Given the description of an element on the screen output the (x, y) to click on. 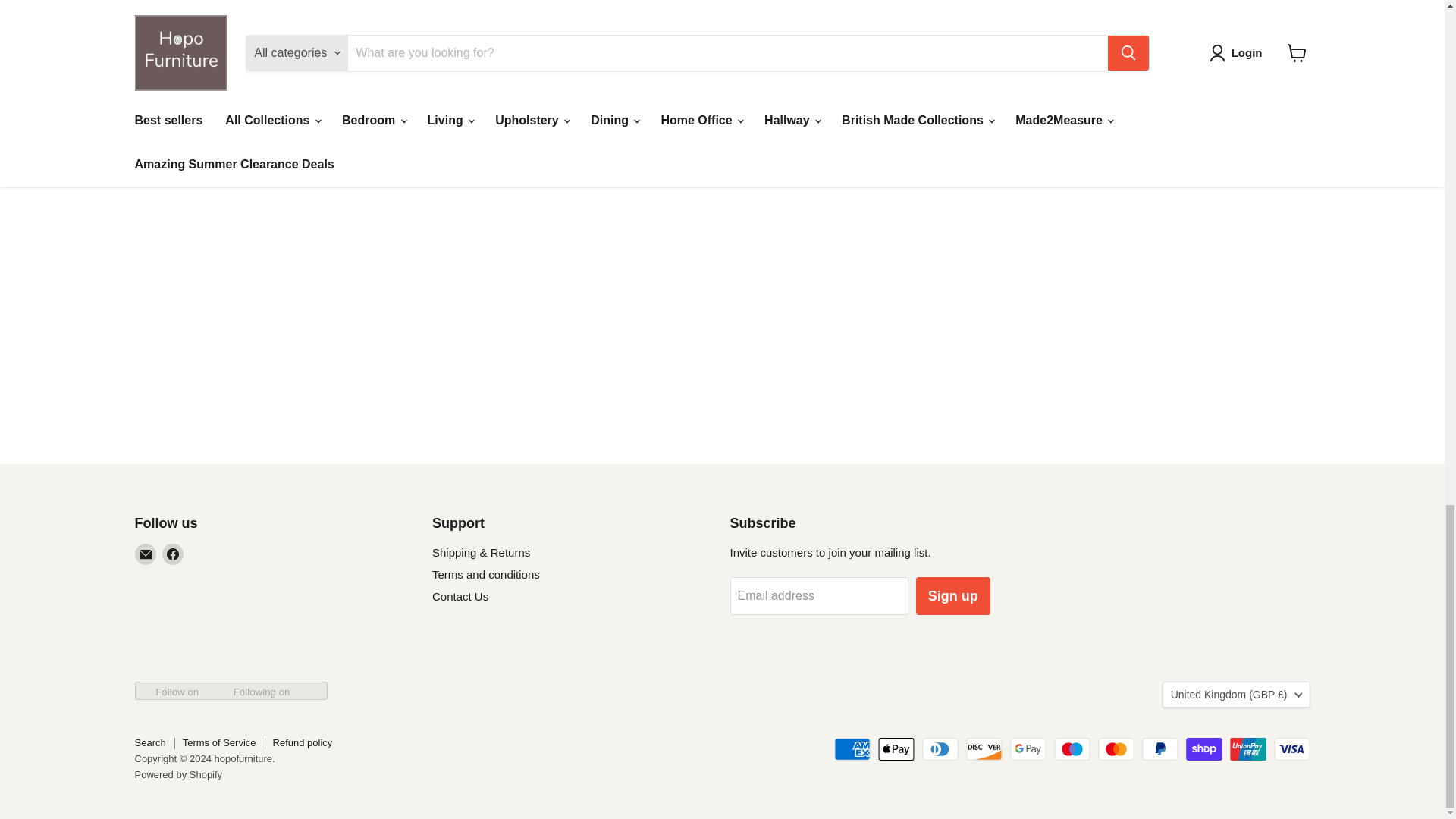
hopofurniture (176, 16)
furniture (1117, 16)
hopofurniture (414, 16)
Facebook (172, 554)
hopofurniture (890, 15)
hopofurniture (652, 16)
Email (145, 554)
